Given the description of an element on the screen output the (x, y) to click on. 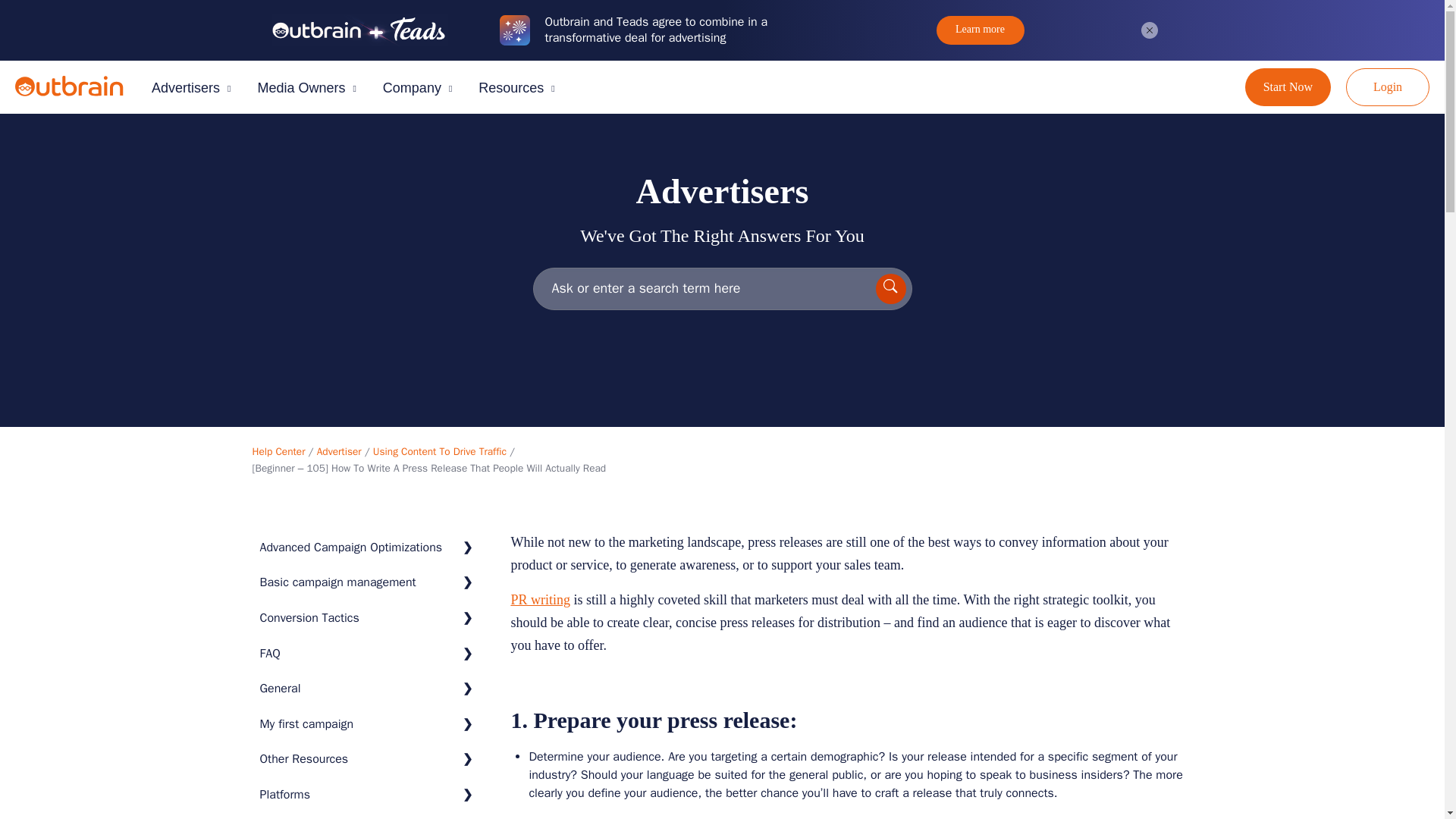
Advertisers (194, 87)
Outbrain (86, 92)
Help Center (277, 451)
Company (421, 87)
Outbrain logo - link to homepage (86, 92)
Media Owners (309, 87)
Outbrain logo - link to homepage (68, 86)
Resources (520, 87)
Start Now (1287, 86)
PR writing (540, 599)
